Given the description of an element on the screen output the (x, y) to click on. 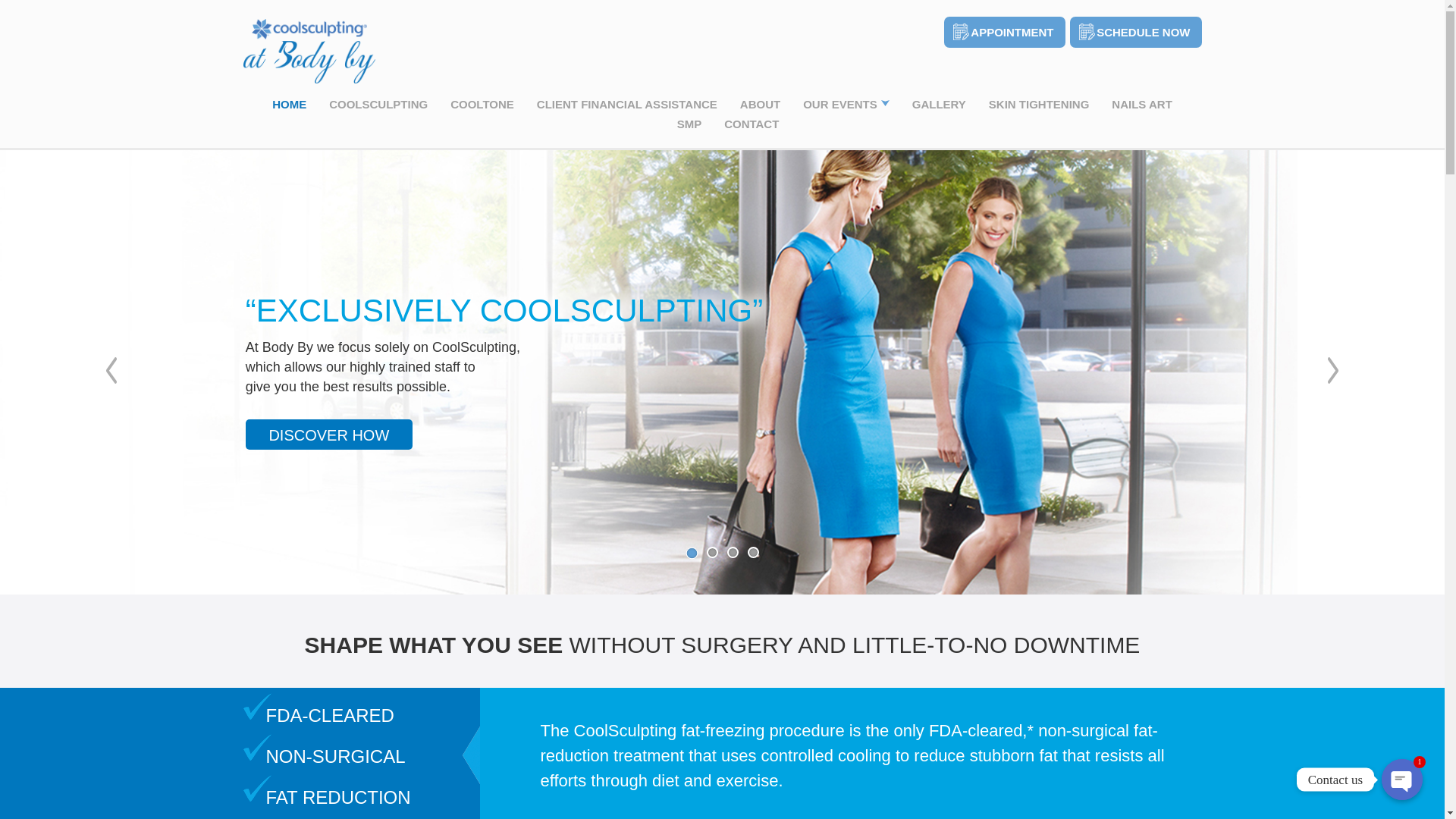
Previous (111, 370)
CLIENT FINANCIAL ASSISTANCE (627, 103)
SCHEDULE NOW (1135, 28)
SKIN TIGHTENING (1038, 103)
Next (1332, 370)
GALLERY (939, 103)
1 (691, 552)
4 (753, 552)
SMP (689, 123)
ABOUT (759, 103)
NAILS ART (1142, 103)
COOLTONE (481, 103)
DISCOVER HOW (329, 434)
HOME (288, 103)
2 (711, 552)
